Given the description of an element on the screen output the (x, y) to click on. 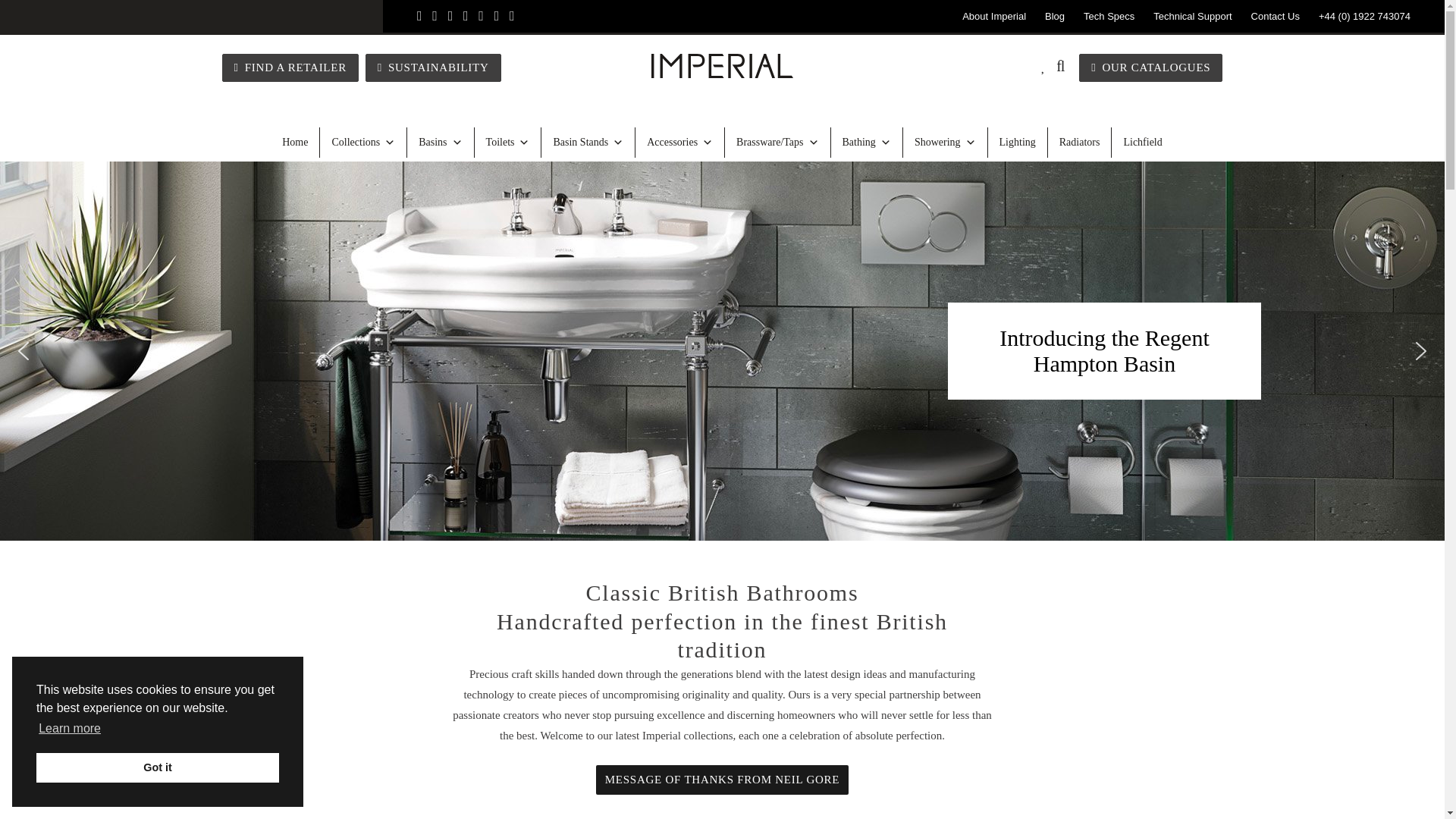
OUR CATALOGUES (1150, 67)
Basins (440, 142)
Collections (363, 142)
Technical Support (1192, 16)
Home (295, 142)
Tech Specs (1108, 16)
Contact Us (1275, 16)
About Imperial (994, 16)
FIND A RETAILER (289, 67)
Got it (157, 767)
SUSTAINABILITY (432, 67)
Learn more (69, 728)
